Given the description of an element on the screen output the (x, y) to click on. 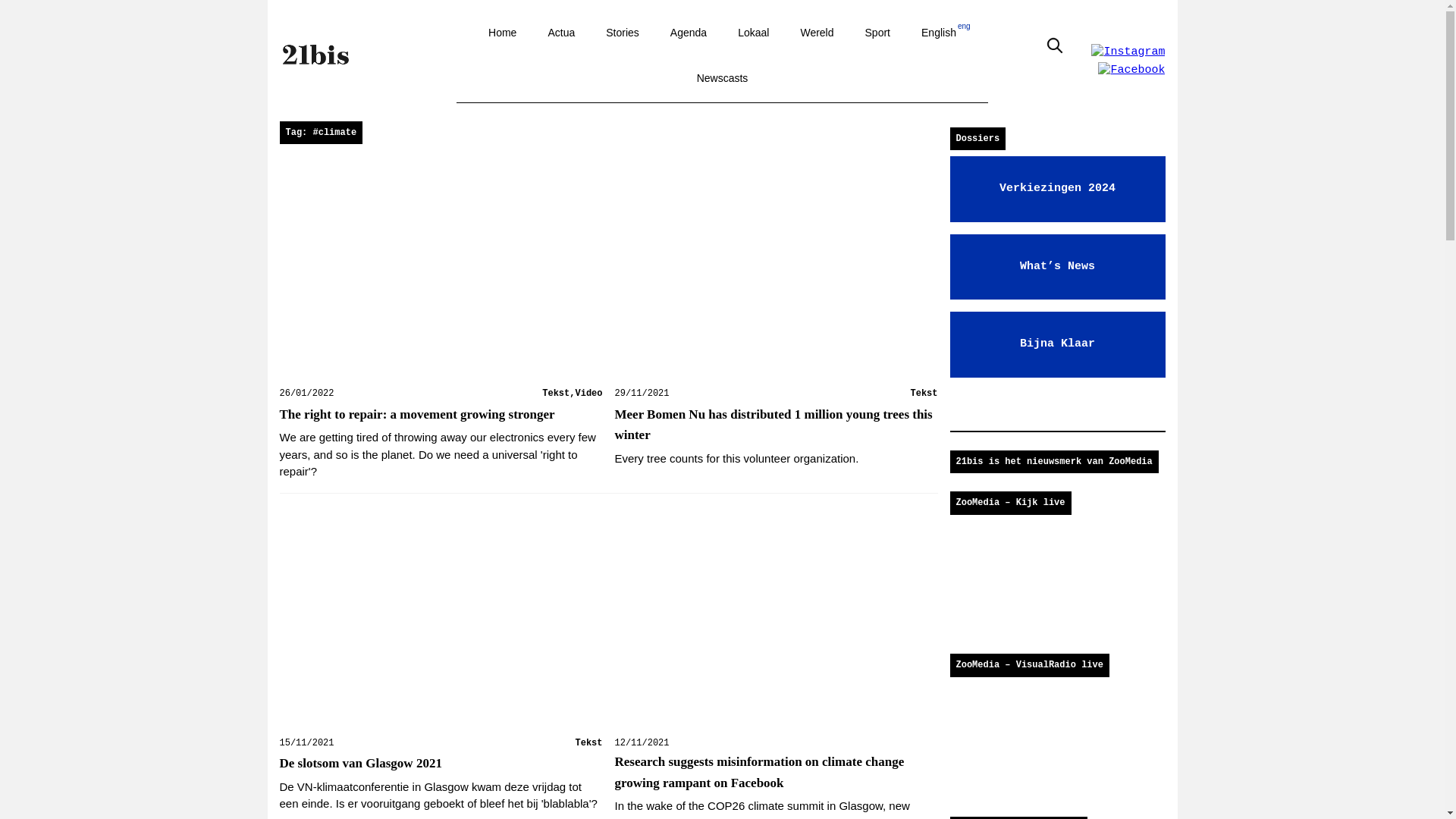
De slotsom van Glasgow 2021 (360, 762)
The right to repair: a movement growing stronger (416, 414)
ZOO MEDIA - LIVESTREAM (1056, 581)
Tekst (555, 393)
Tekst (923, 393)
Tekst (588, 742)
Newscasts (722, 80)
Video (588, 393)
